Given the description of an element on the screen output the (x, y) to click on. 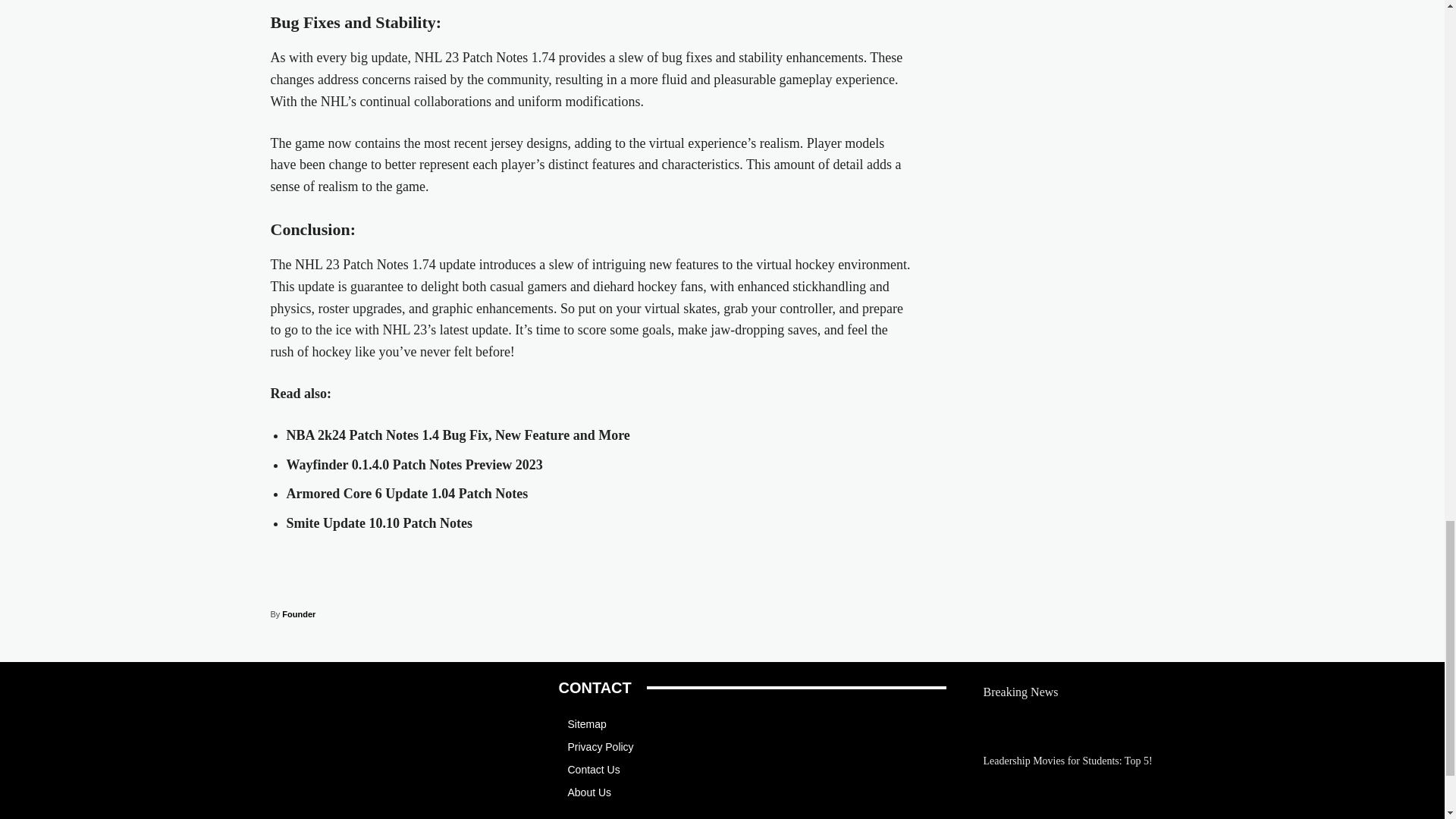
NBA 2k24 Patch Notes 1.4 Bug Fix, New Feature and More (458, 435)
Wayfinder 0.1.4.0 Patch Notes Preview 2023 (414, 464)
Armored Core 6 Update 1.04 Patch Notes (407, 493)
